Given the description of an element on the screen output the (x, y) to click on. 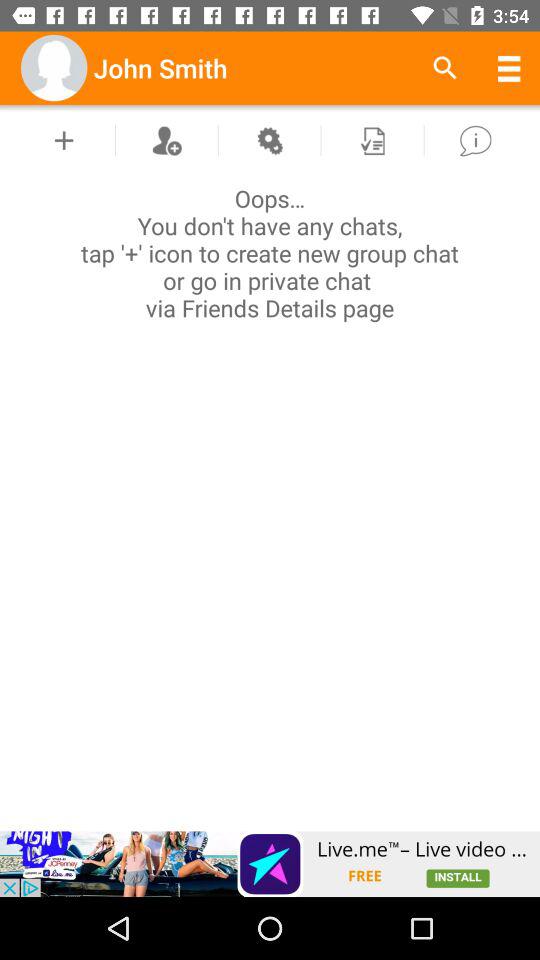
view settings (269, 140)
